Given the description of an element on the screen output the (x, y) to click on. 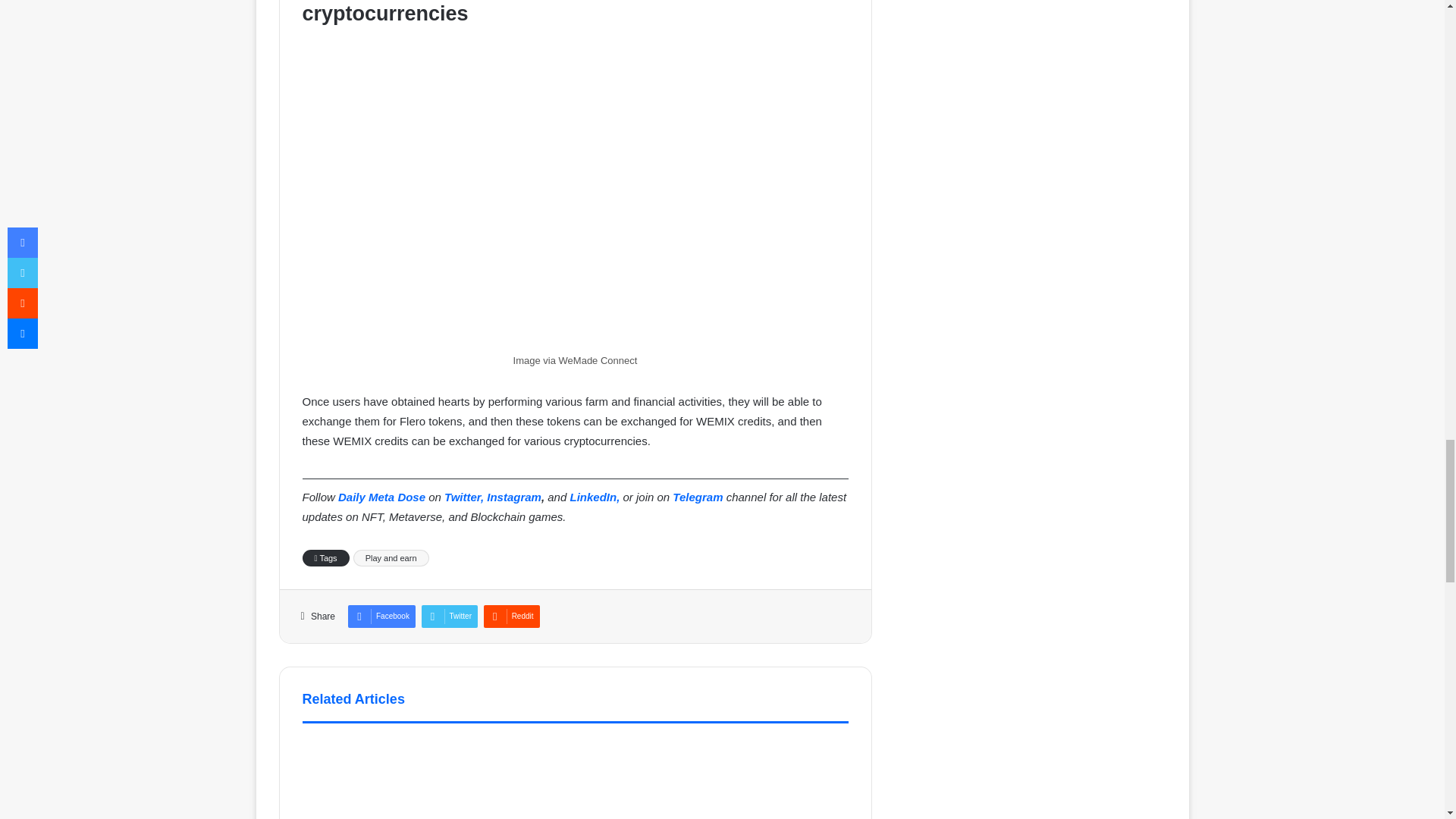
Facebook (380, 616)
Reddit (511, 616)
Twitter (449, 616)
